Given the description of an element on the screen output the (x, y) to click on. 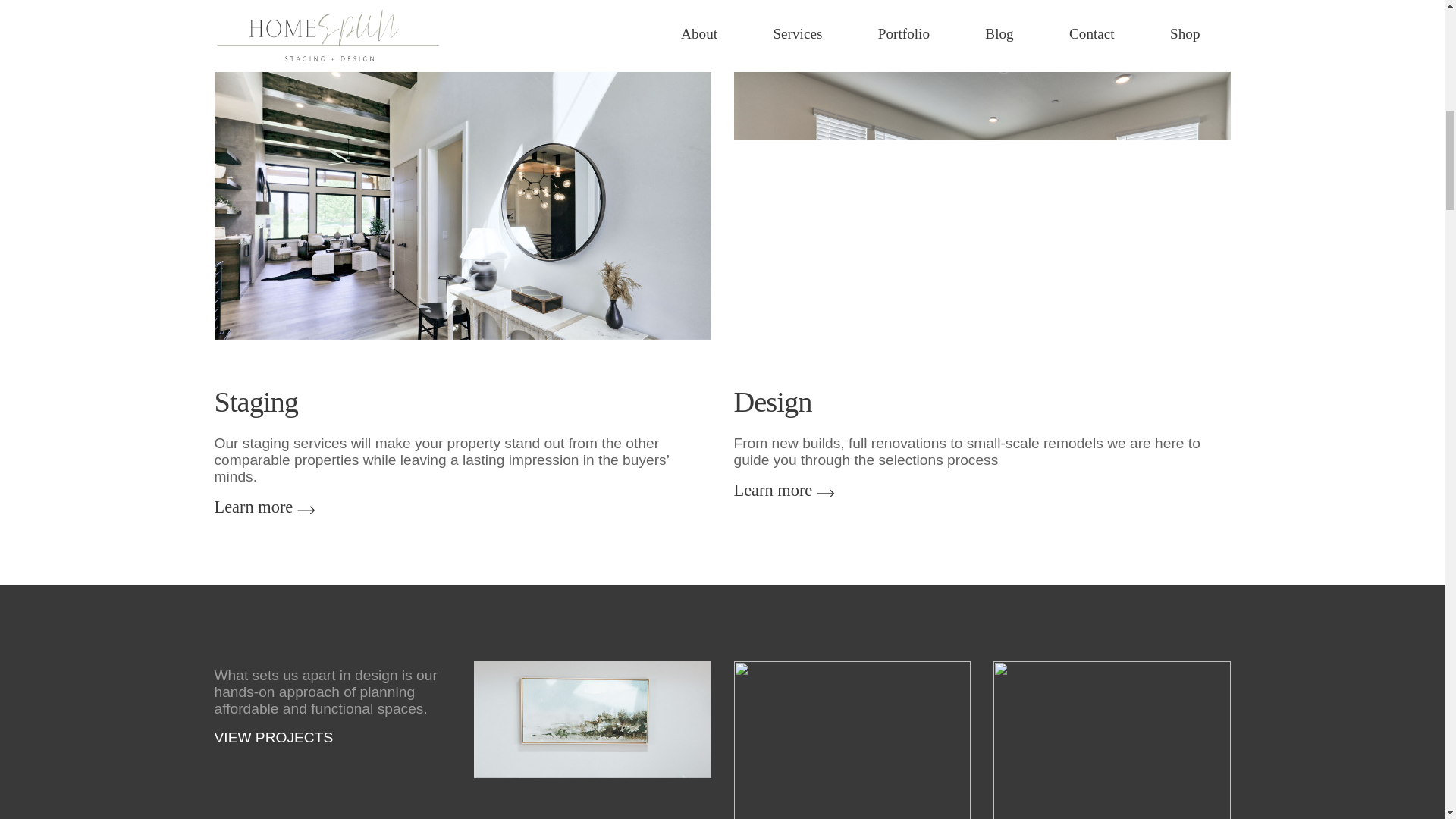
Learn more (253, 506)
VIEW PROJECTS (273, 737)
Learn more (772, 489)
Myrtle St. (1111, 739)
East Lake St. (852, 739)
Bonny Dr. (592, 739)
